Given the description of an element on the screen output the (x, y) to click on. 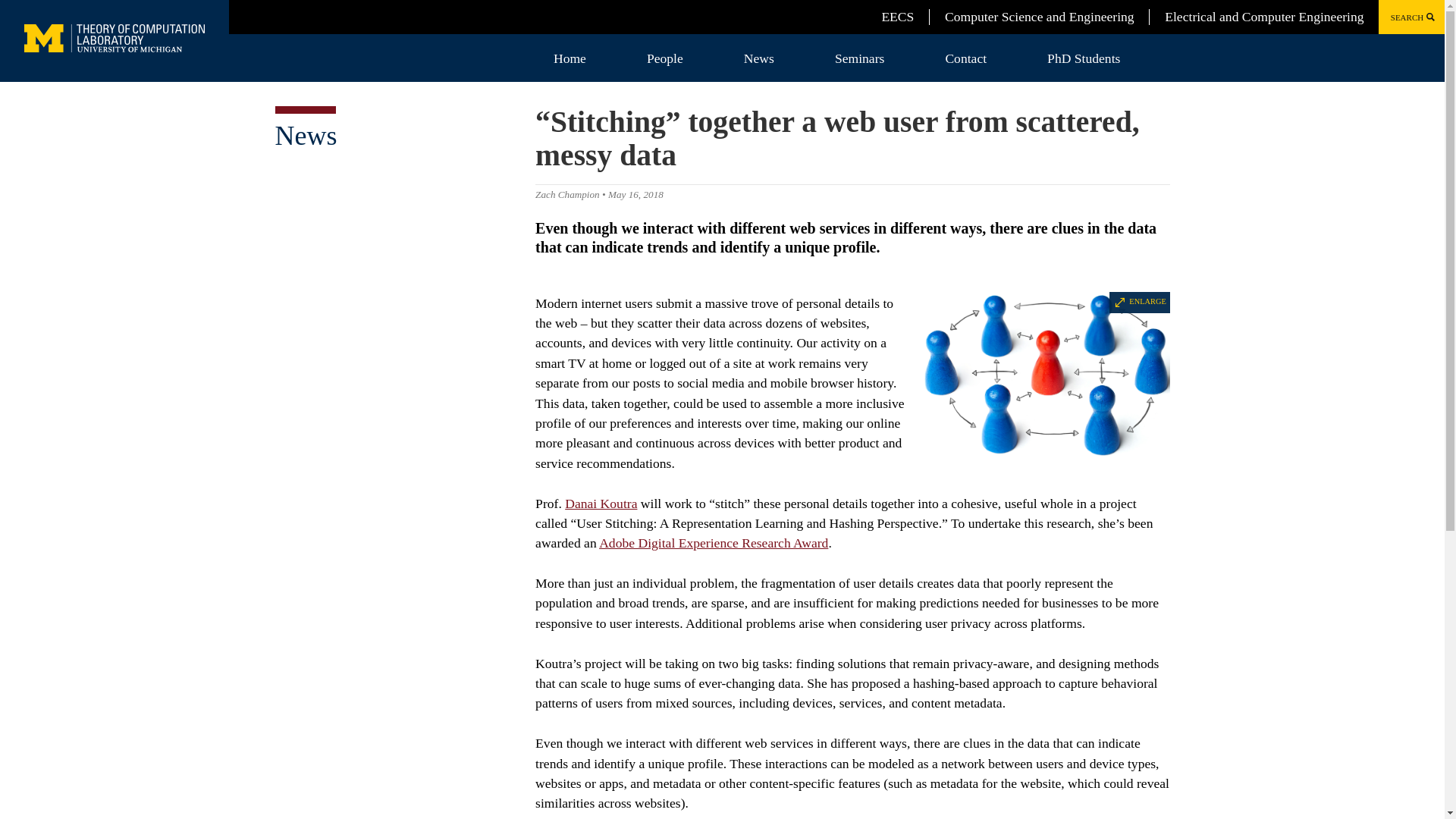
Adobe Digital Experience Research Award (713, 542)
EECS (897, 16)
People (664, 57)
Danai Koutra (600, 503)
PhD Students (1083, 57)
News (305, 135)
Contact (965, 57)
Electrical and Computer Engineering (1263, 16)
Seminars (859, 57)
News (759, 57)
Computer Science and Engineering (1039, 16)
Home (569, 57)
